Given the description of an element on the screen output the (x, y) to click on. 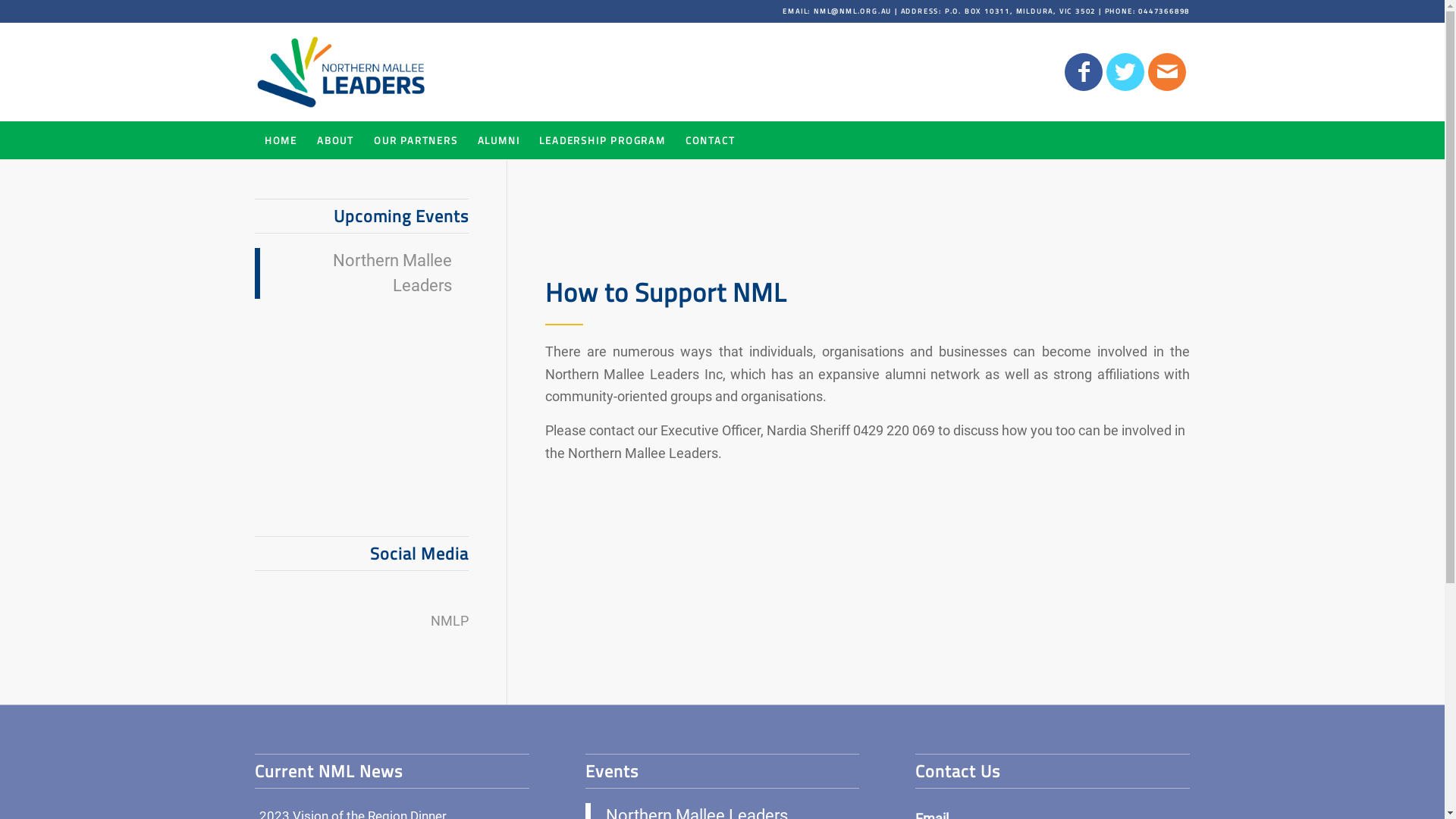
LEADERSHIP PROGRAM Element type: text (601, 140)
Twitter Element type: hover (1125, 72)
CONTACT Element type: text (710, 140)
HOME Element type: text (280, 140)
Mail Element type: hover (1167, 72)
Northern Mallee Leaders Element type: text (391, 272)
OUR PARTNERS Element type: text (415, 140)
NMLP Element type: text (449, 620)
ABOUT Element type: text (335, 140)
Facebook Element type: hover (1083, 72)
ALUMNI Element type: text (498, 140)
